Given the description of an element on the screen output the (x, y) to click on. 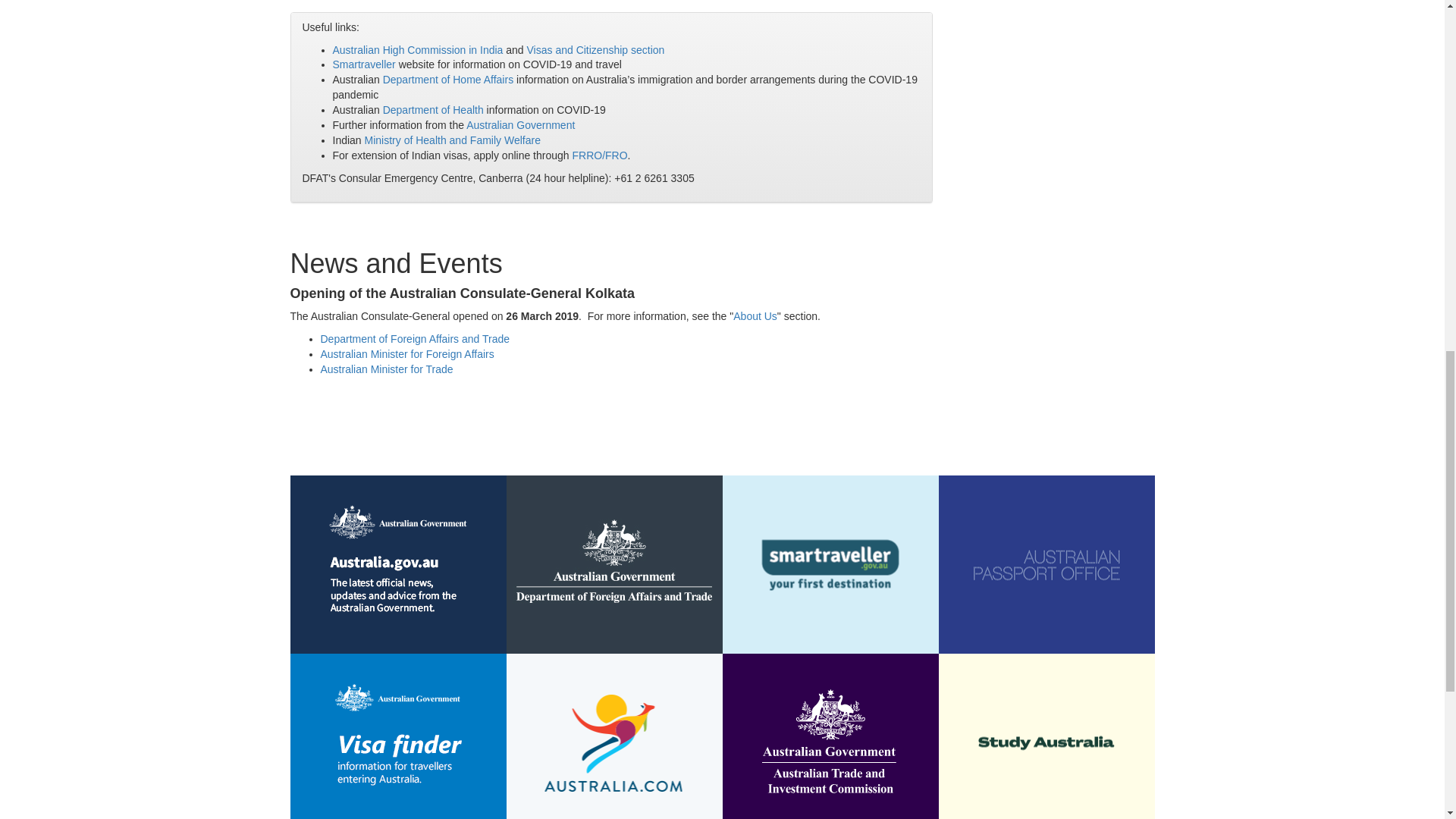
Ministry of Health and Family Welfare (452, 140)
About Us (755, 316)
Smartraveller (362, 64)
Australian Minister for Foreign Affairs (406, 354)
Department of Health (432, 110)
Visas and Citizenship section (596, 50)
Australian Minister for Trade (386, 369)
Australian High Commission in India (416, 50)
Department of Home Affairs (447, 79)
Department of Foreign Affairs and Trade (414, 338)
Australian Government (520, 124)
